Given the description of an element on the screen output the (x, y) to click on. 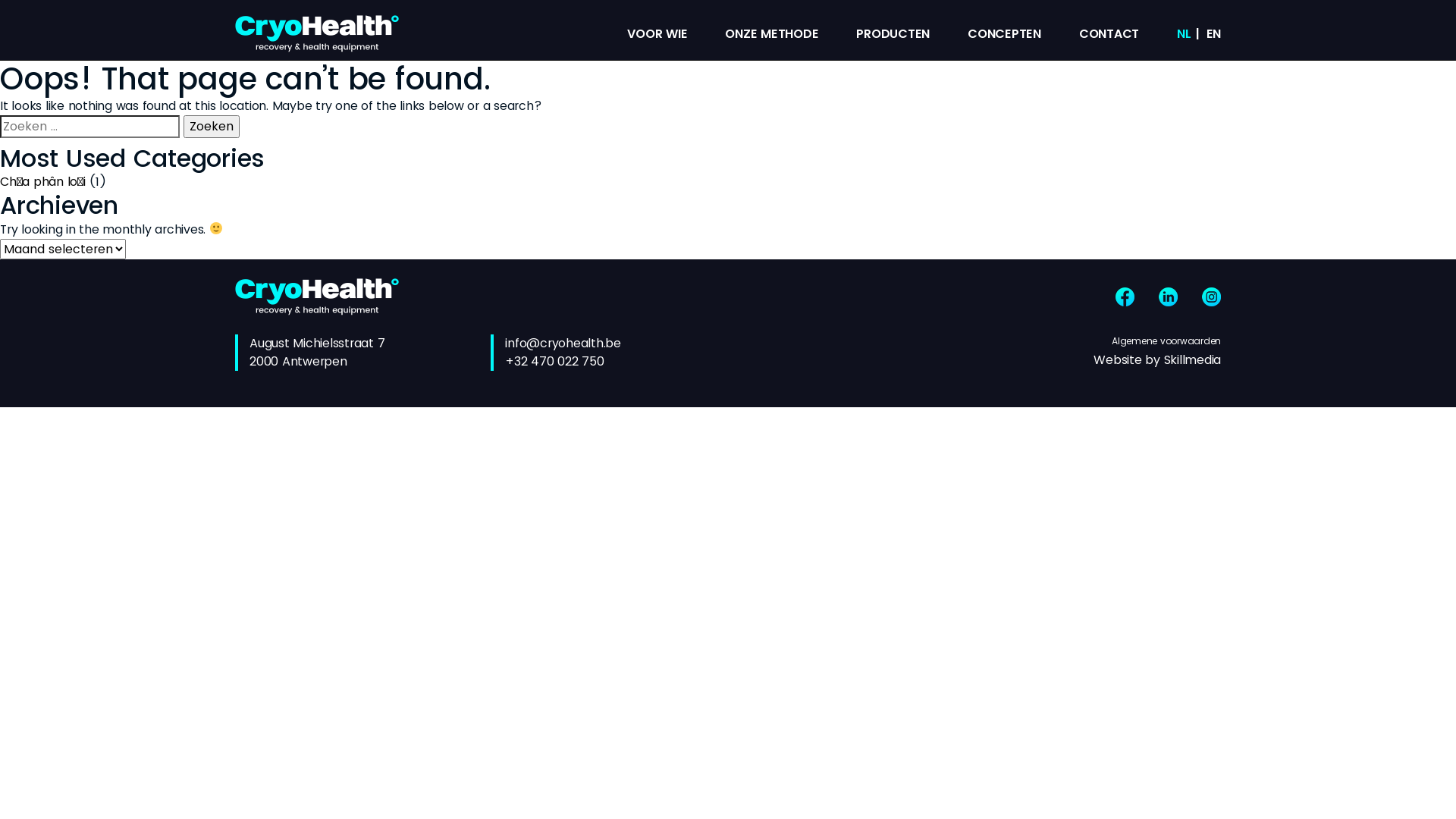
info@cryohealth.be Element type: text (563, 342)
VOOR WIE Element type: text (657, 33)
PRODUCTEN Element type: text (892, 33)
CONTACT Element type: text (1109, 33)
CONCEPTEN Element type: text (1004, 33)
ONZE METHODE Element type: text (771, 33)
+32 470 022 750 Element type: text (554, 361)
NL Element type: text (1183, 32)
EN Element type: text (1212, 32)
Skillmedia Element type: text (1191, 359)
Zoeken Element type: text (211, 126)
